Given the description of an element on the screen output the (x, y) to click on. 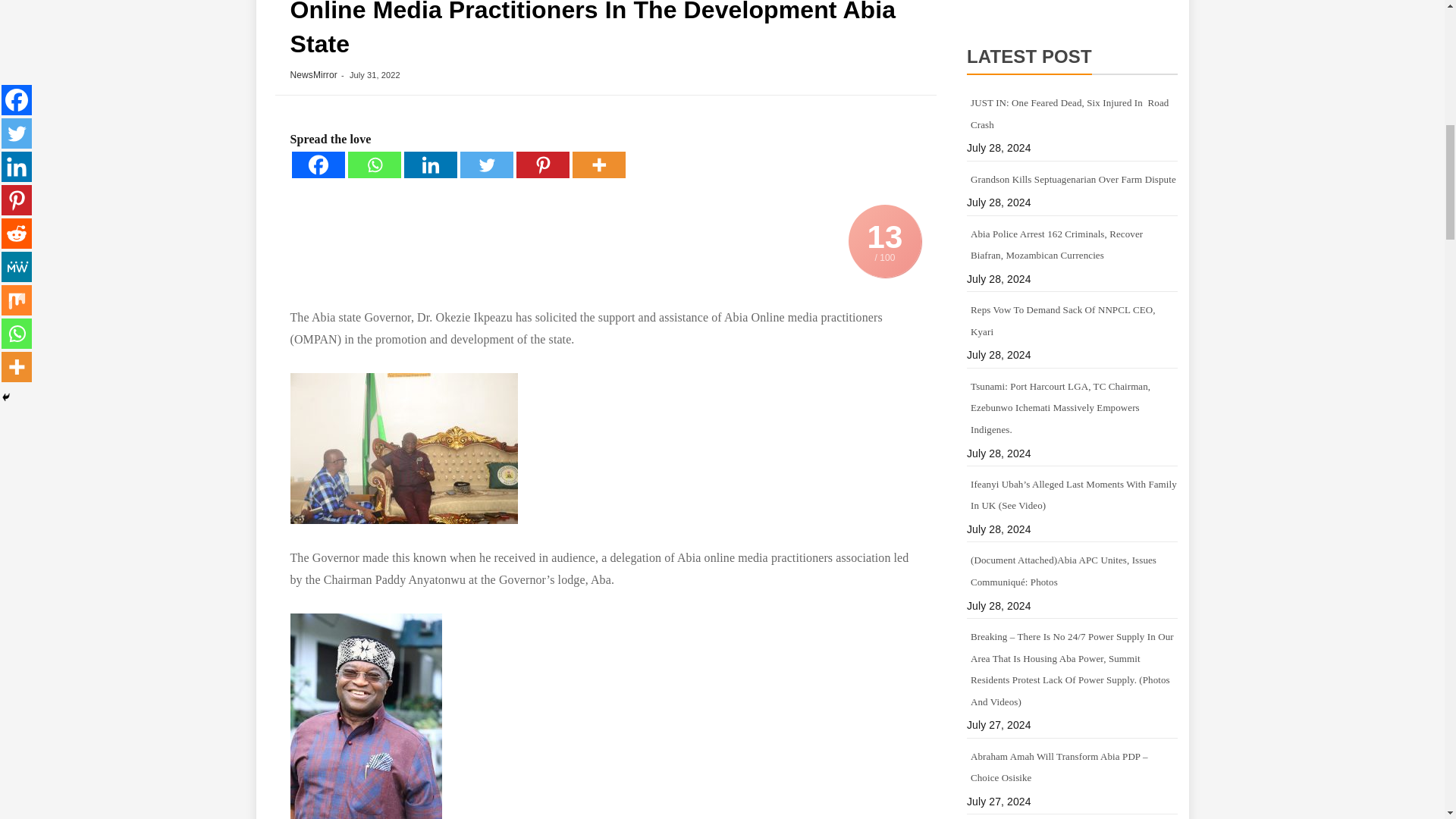
Pinterest (542, 164)
More (598, 164)
Linkedin (430, 164)
Facebook (317, 164)
NewsMirror (312, 74)
Twitter (486, 164)
Whatsapp (373, 164)
